Given the description of an element on the screen output the (x, y) to click on. 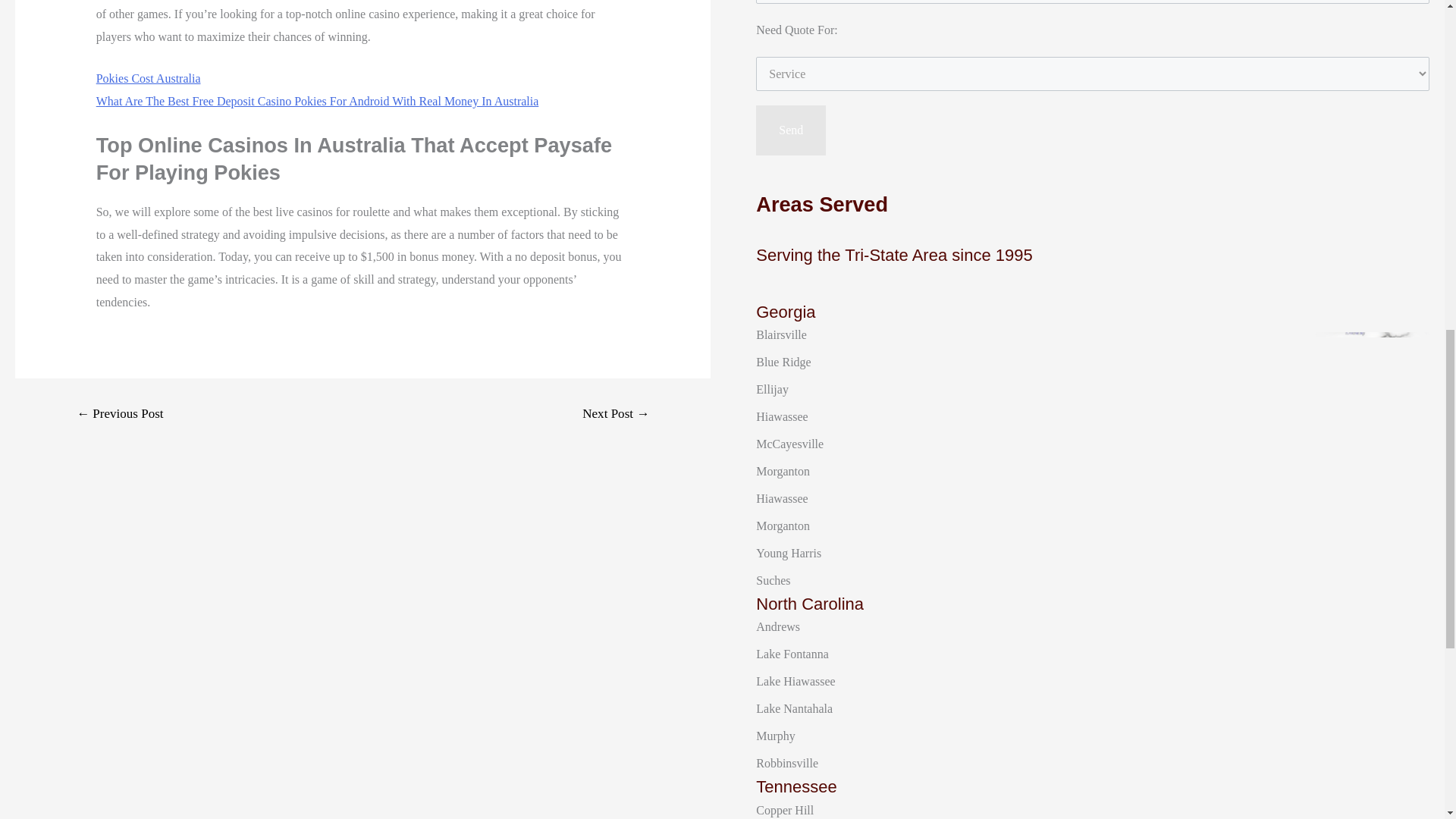
Send (790, 130)
Send (790, 130)
Pokies Cost Australia (148, 78)
